Given the description of an element on the screen output the (x, y) to click on. 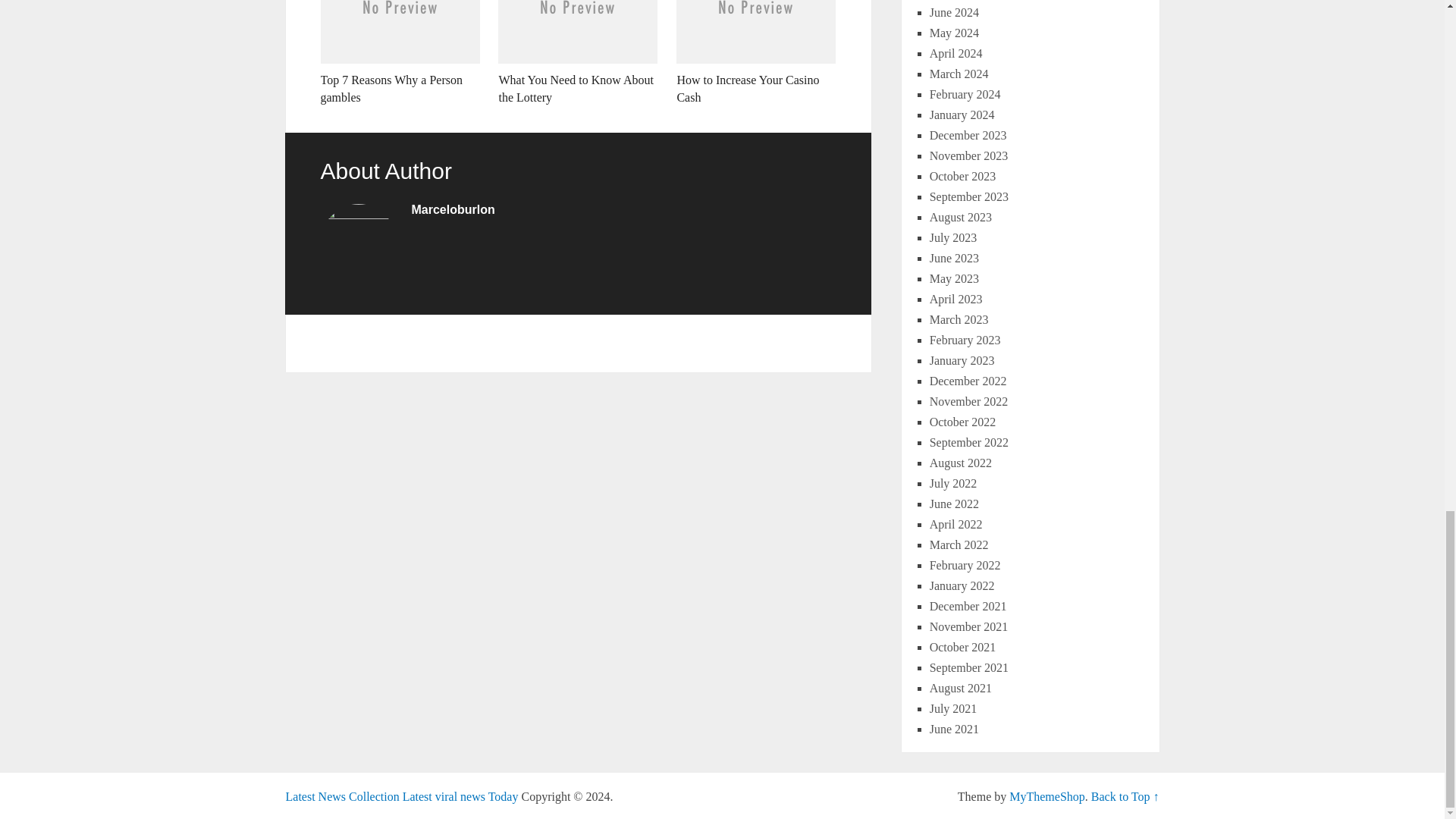
How to Increase Your Casino Cash (756, 53)
Top 7 Reasons Why a Person gambles (399, 53)
Breaking News (401, 796)
What You Need to Know About the Lottery (577, 53)
How to Increase Your Casino Cash (756, 53)
Top 7 Reasons Why a Person gambles (399, 53)
What You Need to Know About the Lottery (577, 53)
